Given the description of an element on the screen output the (x, y) to click on. 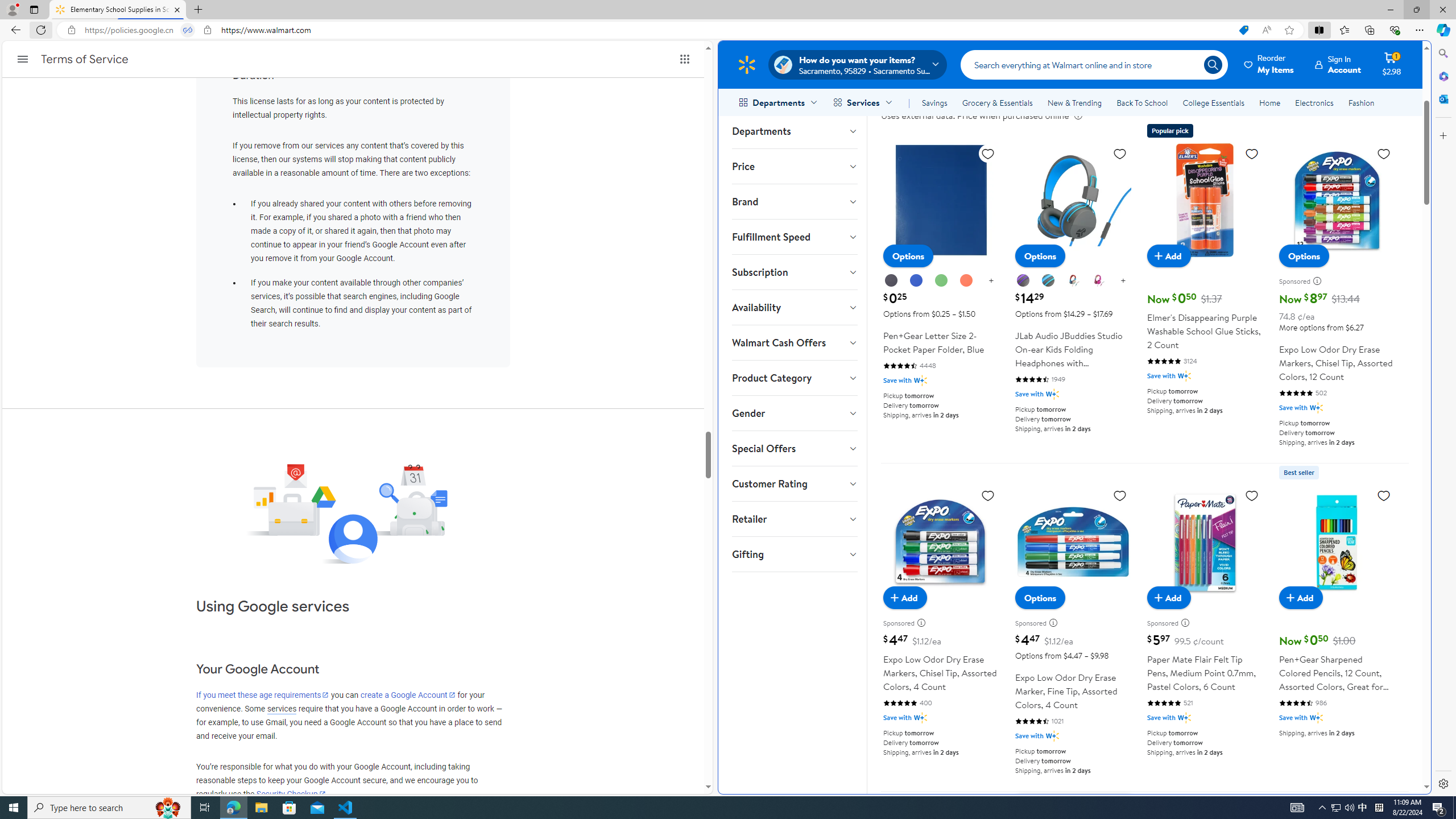
Departments (794, 130)
Gifting (794, 554)
Fashion (1361, 102)
Green (941, 280)
Fashion (1361, 102)
Pen+Gear Letter Size 2-Pocket Paper Folder, Blue (940, 274)
Availability (794, 307)
